Given the description of an element on the screen output the (x, y) to click on. 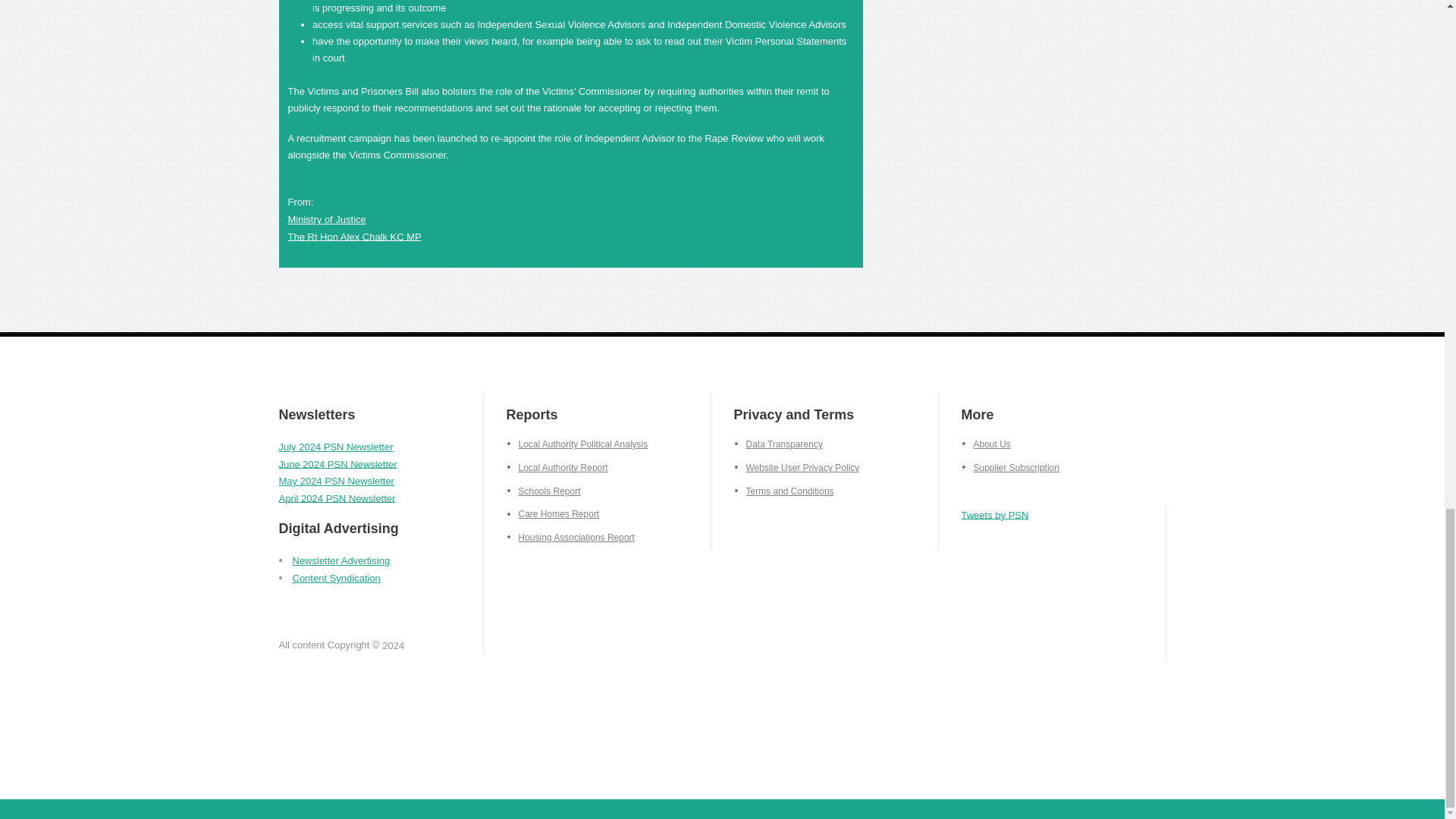
Schools Report (543, 491)
Housing Associations Report (570, 537)
Local Authority Report (557, 467)
July 2024 PSN Newsletter (336, 446)
Supplier Subscription (1009, 467)
Care Homes Report (552, 513)
Newsletter Advertising (341, 560)
Content Syndication (336, 577)
Data Transparency (777, 443)
Tweets by PSN (994, 514)
June 2024 PSN Newsletter (338, 463)
About Us (985, 443)
Ministry of Justice (327, 219)
The Rt Hon Alex Chalk KC MP (355, 235)
Local Authority Political Analysis (576, 443)
